Given the description of an element on the screen output the (x, y) to click on. 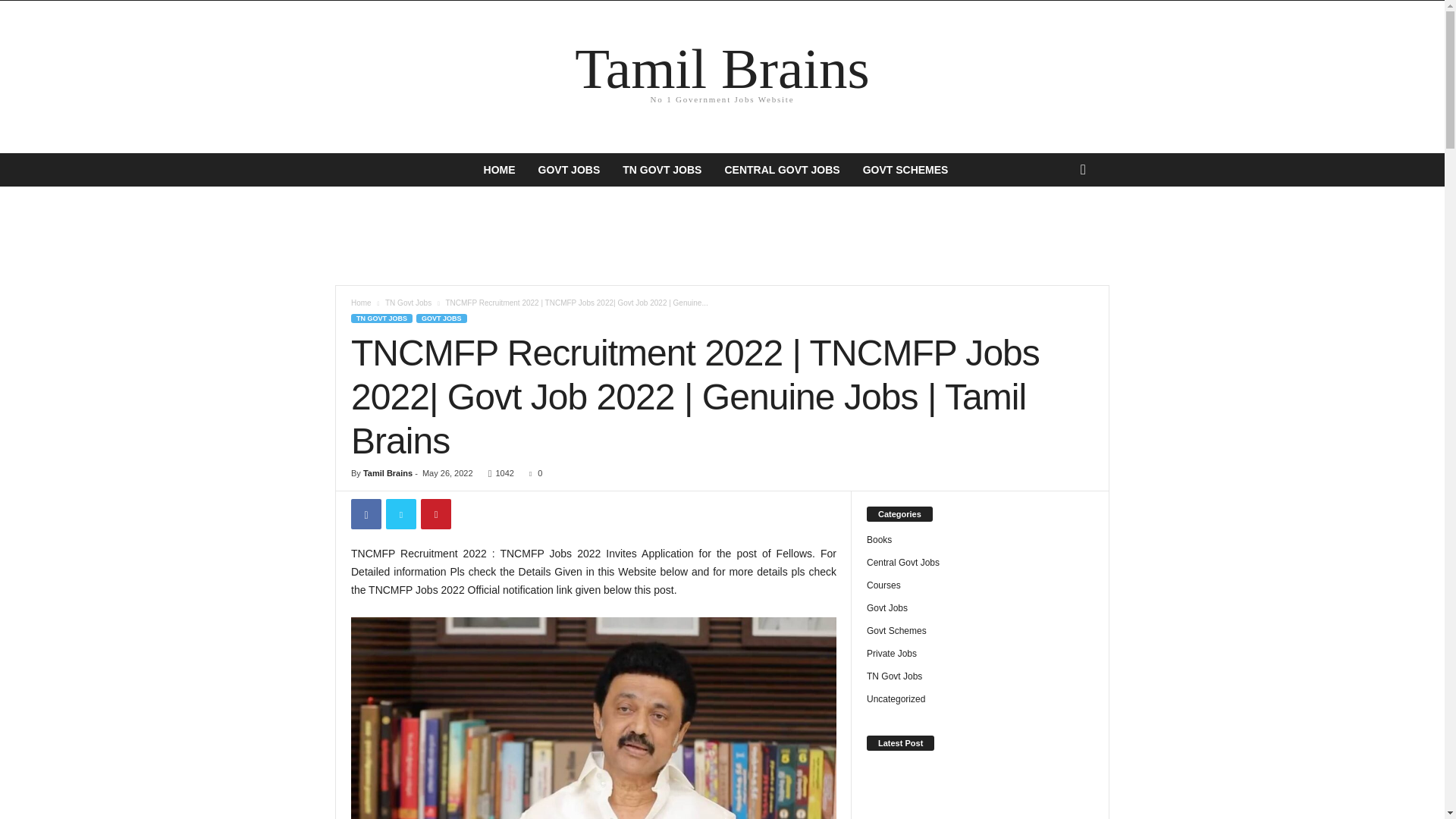
GOVT JOBS (569, 169)
GOVT SCHEMES (905, 169)
TNCMFP Recruitment 2022 (592, 718)
View all posts in TN Govt Jobs (407, 302)
GOVT JOBS (441, 317)
CENTRAL GOVT JOBS (781, 169)
TN Govt Jobs (407, 302)
Tamil Brains (387, 472)
Advertisement (721, 235)
0 (531, 472)
TN GOVT JOBS (381, 317)
HOME (499, 169)
Home (722, 76)
TN GOVT JOBS (360, 302)
